Given the description of an element on the screen output the (x, y) to click on. 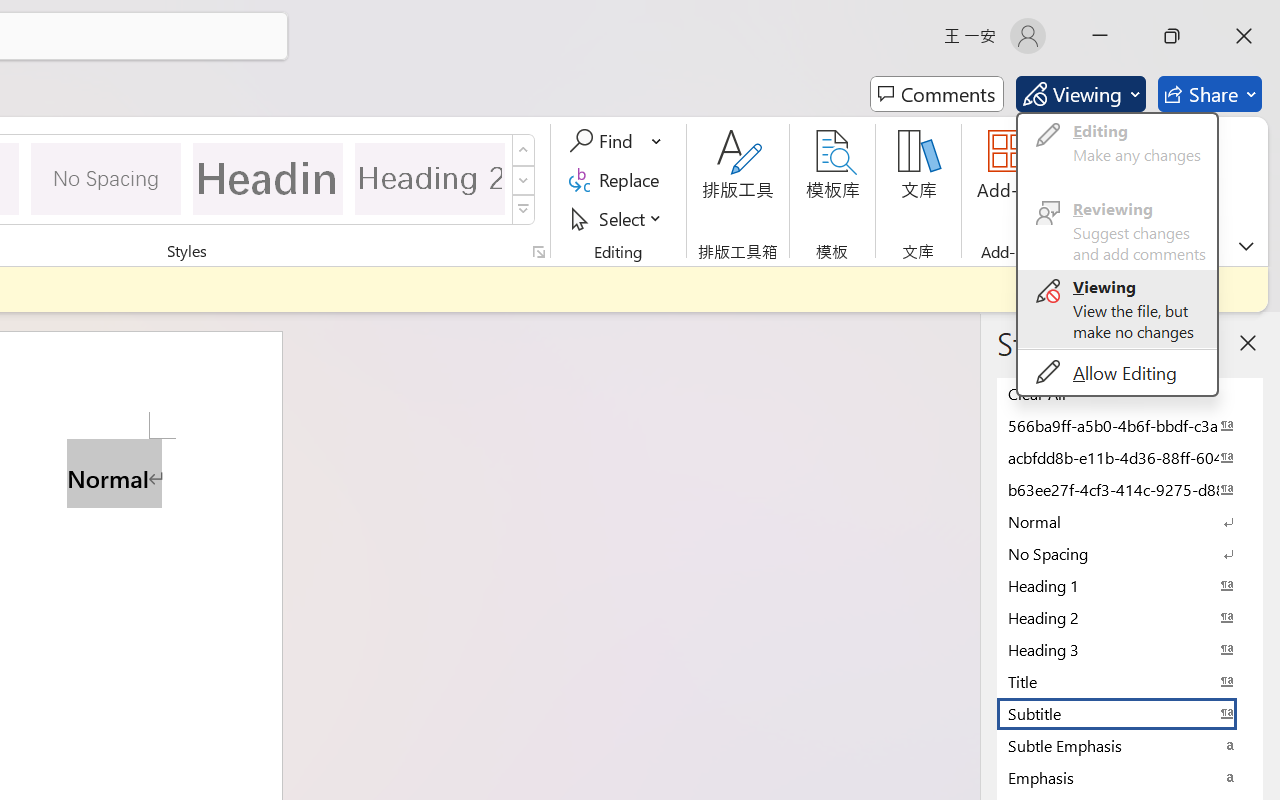
Emphasis (1130, 777)
Heading 1 (267, 178)
Ribbon Display Options (1246, 245)
acbfdd8b-e11b-4d36-88ff-6049b138f862 (1130, 457)
Heading 3 (1130, 649)
Mode (1080, 94)
Styles (523, 209)
&Mode (1117, 254)
Select (618, 218)
Heading 2 (429, 178)
